Given the description of an element on the screen output the (x, y) to click on. 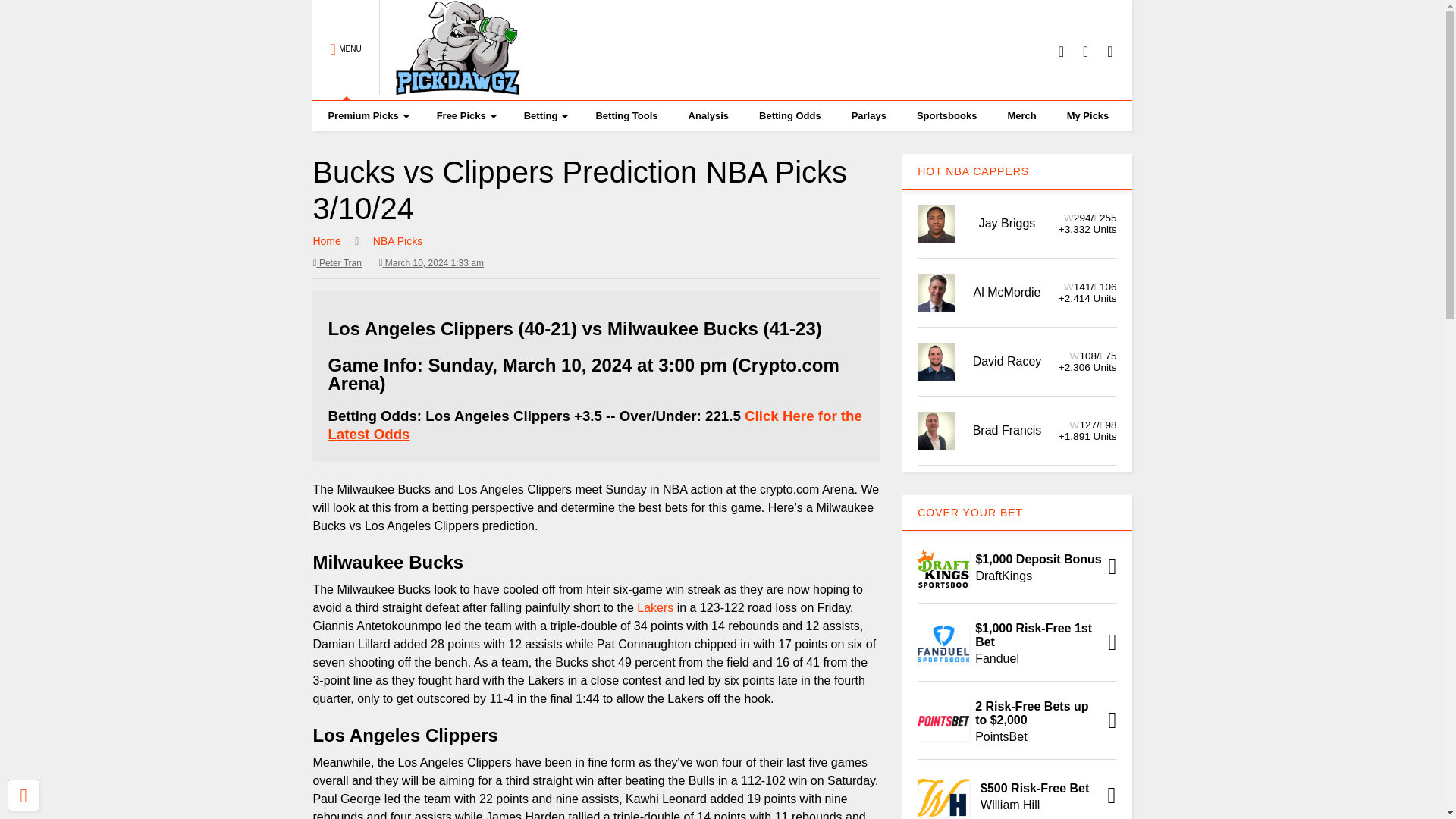
2024-03-10T01:33:00-0500 (430, 263)
Premium Picks (366, 115)
Peter Tran (337, 263)
Analysis (708, 115)
MENU (345, 49)
Betting Tools (625, 115)
PickDawgz (449, 87)
Betting (544, 115)
Free Picks (465, 115)
